Given the description of an element on the screen output the (x, y) to click on. 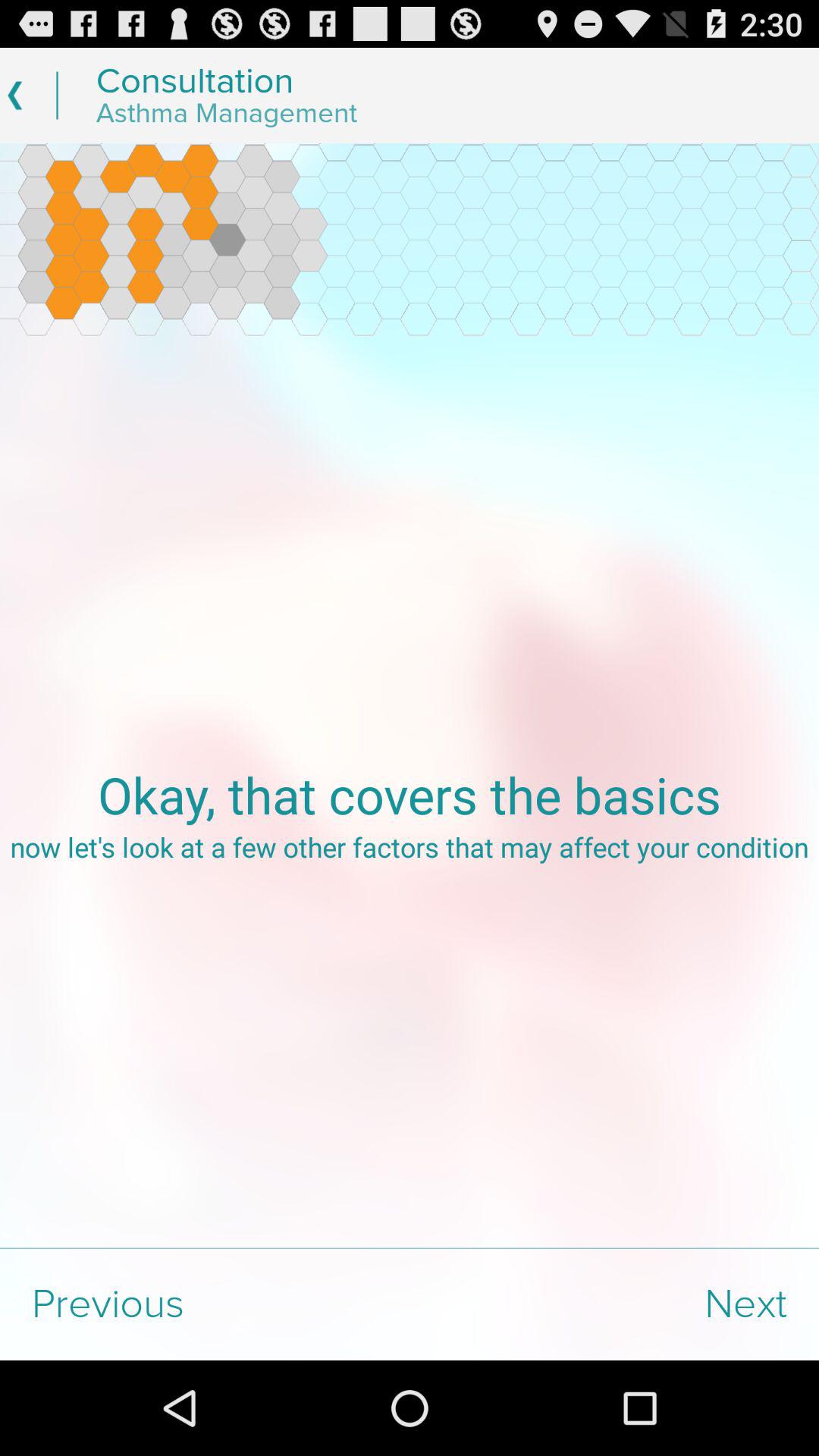
open next (614, 1304)
